Given the description of an element on the screen output the (x, y) to click on. 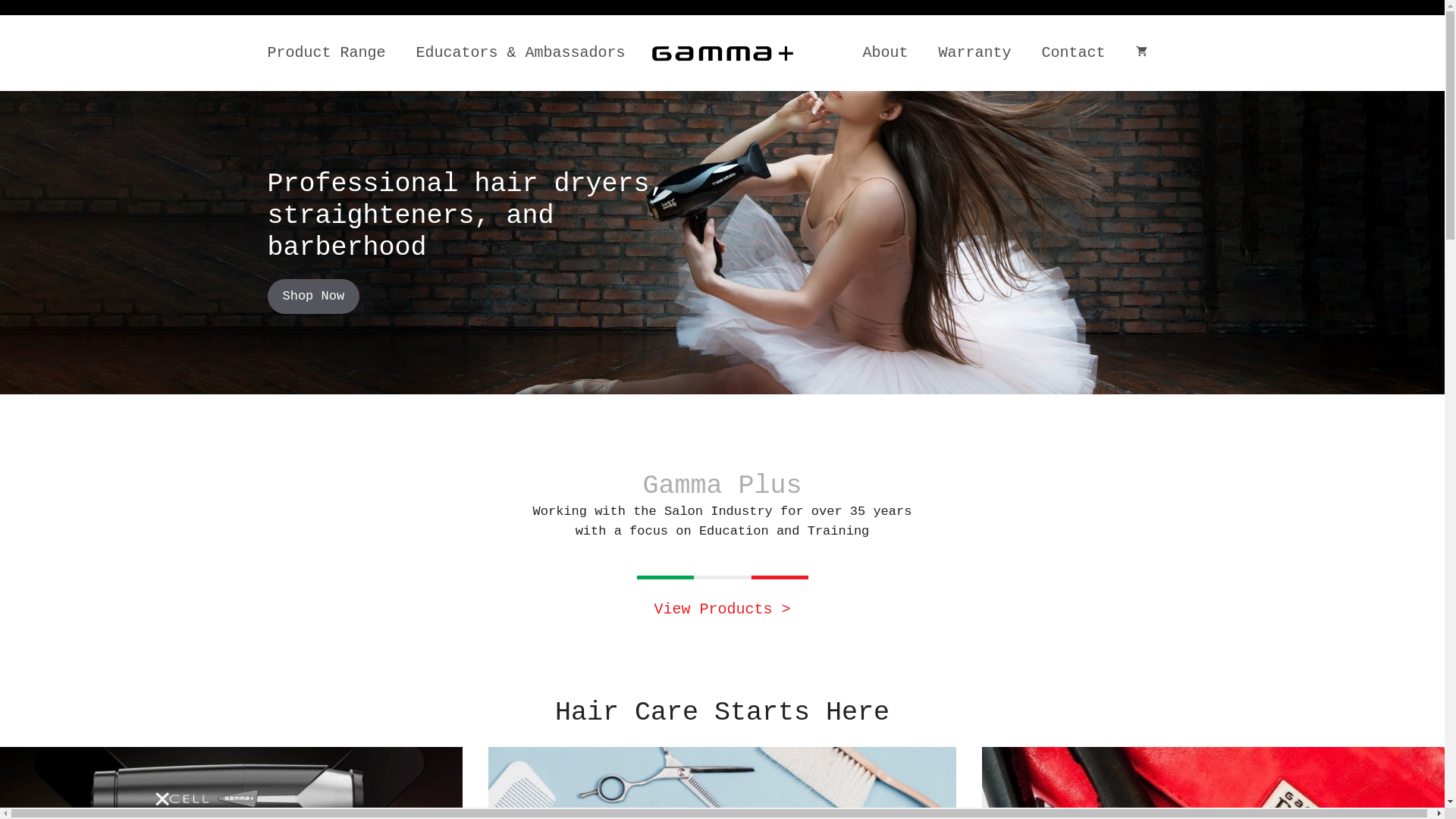
View Products > Element type: text (721, 609)
Contact Element type: text (1073, 52)
View your shopping cart Element type: hover (1141, 52)
Gamma Plus Element type: hover (721, 52)
Gamma Plus Element type: hover (721, 52)
Product Range Element type: text (325, 52)
Educators & Ambassadors Element type: text (520, 52)
Warranty Element type: text (974, 52)
Shop Now Element type: text (312, 296)
About Element type: text (884, 52)
